Given the description of an element on the screen output the (x, y) to click on. 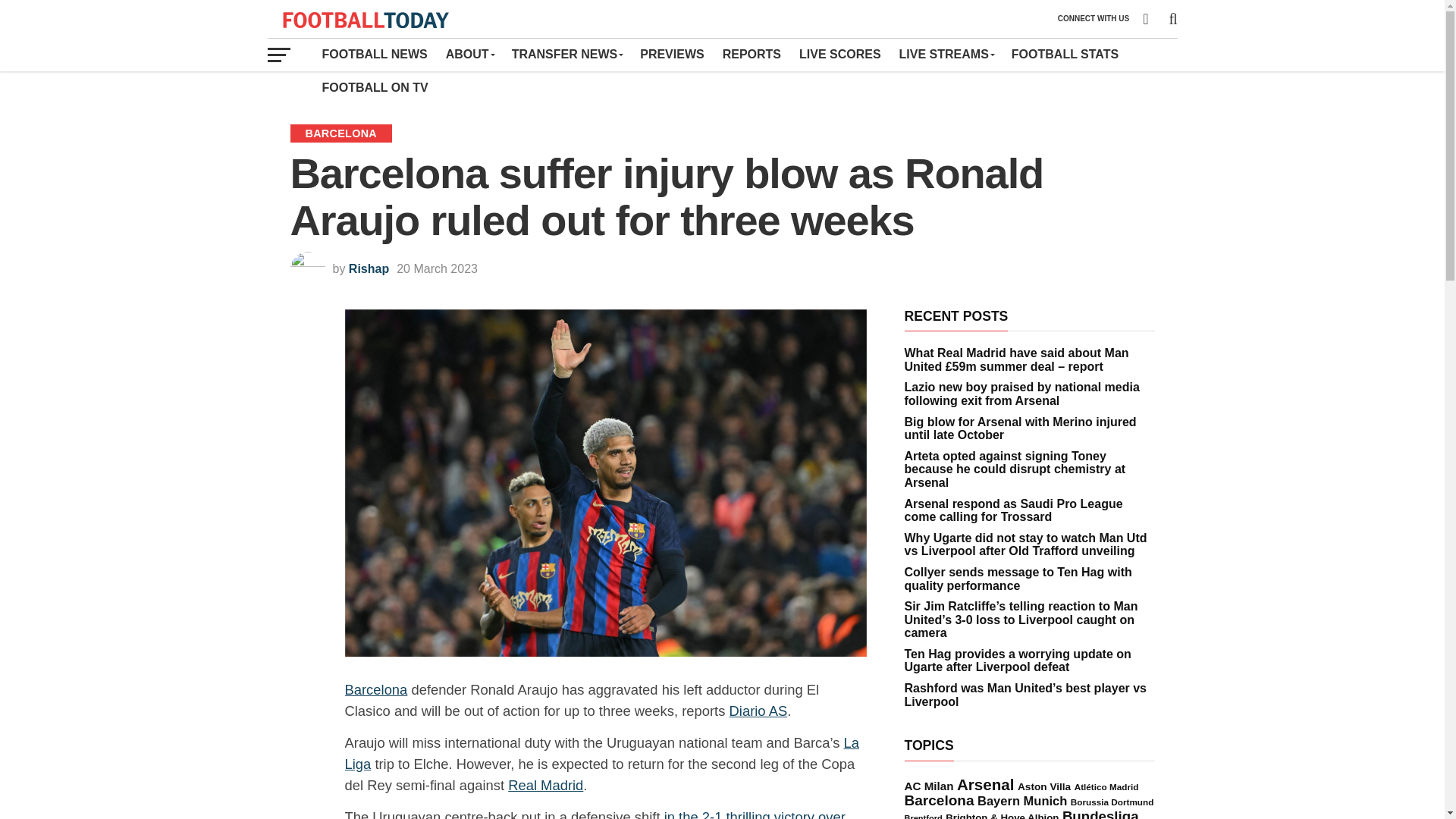
ABOUT (469, 54)
FOOTBALL NEWS (374, 54)
Posts by Rishap (368, 268)
